Given the description of an element on the screen output the (x, y) to click on. 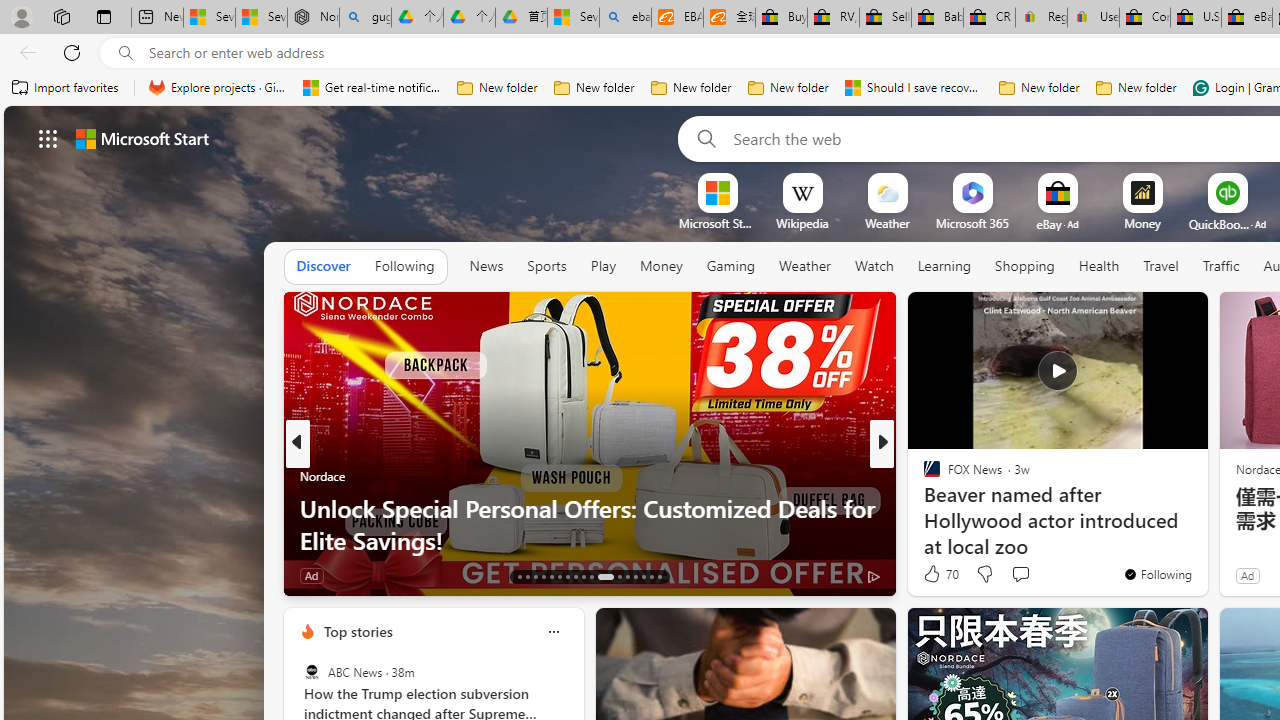
29 Like (934, 574)
81 Like (934, 574)
SlashGear (923, 507)
View comments 6 Comment (1019, 574)
AutomationID: tab-20 (574, 576)
Following (404, 265)
315 Like (936, 574)
Play (602, 265)
191 Like (936, 574)
Travel (1160, 267)
Money (661, 267)
Top stories (357, 631)
AutomationID: tab-16 (542, 576)
AutomationID: tab-32 (635, 576)
Start the conversation (1019, 573)
